Given the description of an element on the screen output the (x, y) to click on. 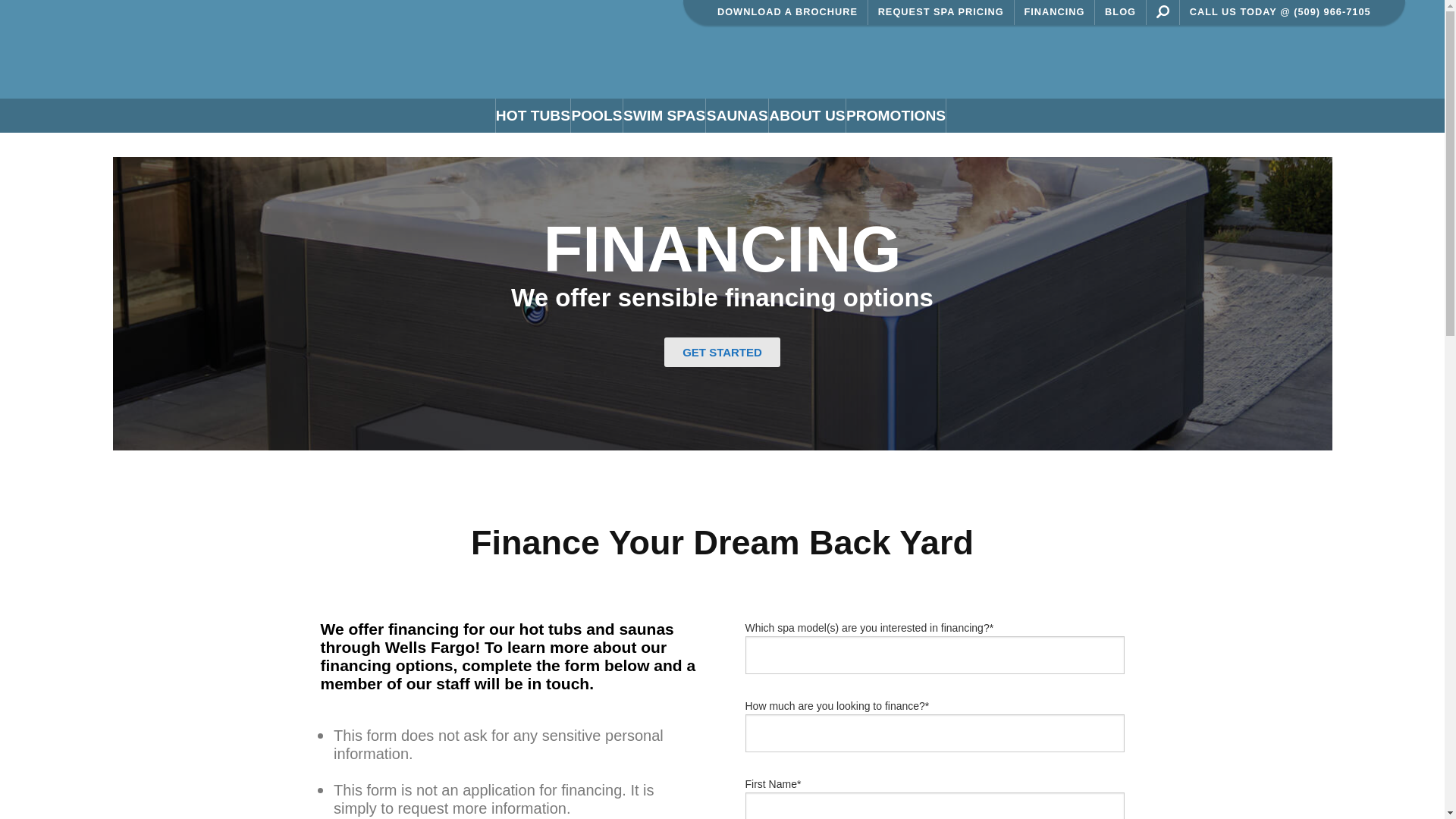
HOT TUBS (532, 115)
FINANCING (1055, 12)
SEARCH (1162, 11)
REQUEST SPA PRICING (940, 12)
BLOG (1120, 12)
DOWNLOAD A BROCHURE (787, 12)
